Given the description of an element on the screen output the (x, y) to click on. 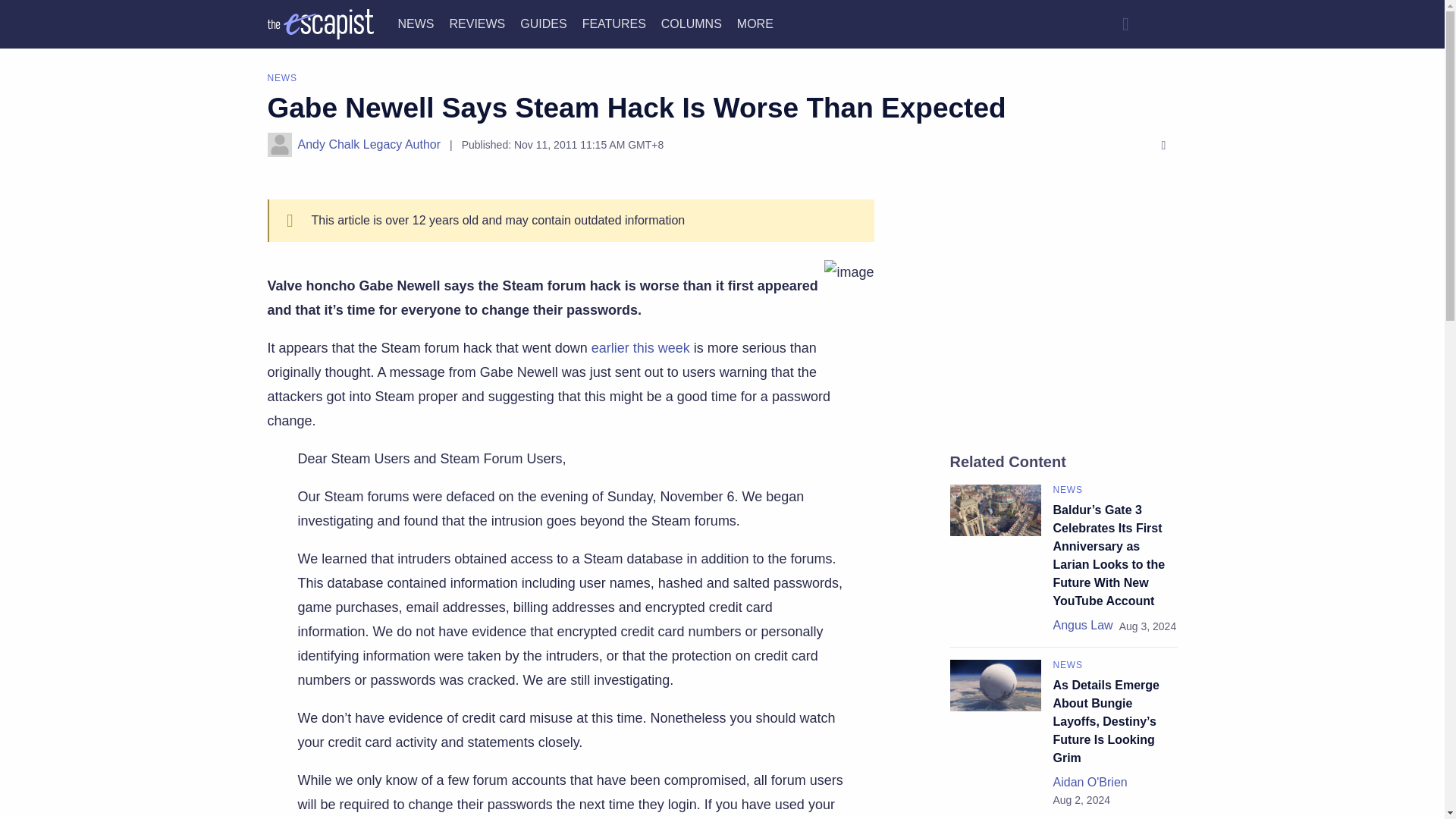
GUIDES (542, 23)
FEATURES (614, 23)
Dark Mode (1161, 24)
COLUMNS (691, 23)
NEWS (415, 23)
Search (1124, 24)
REVIEWS (476, 23)
